Given the description of an element on the screen output the (x, y) to click on. 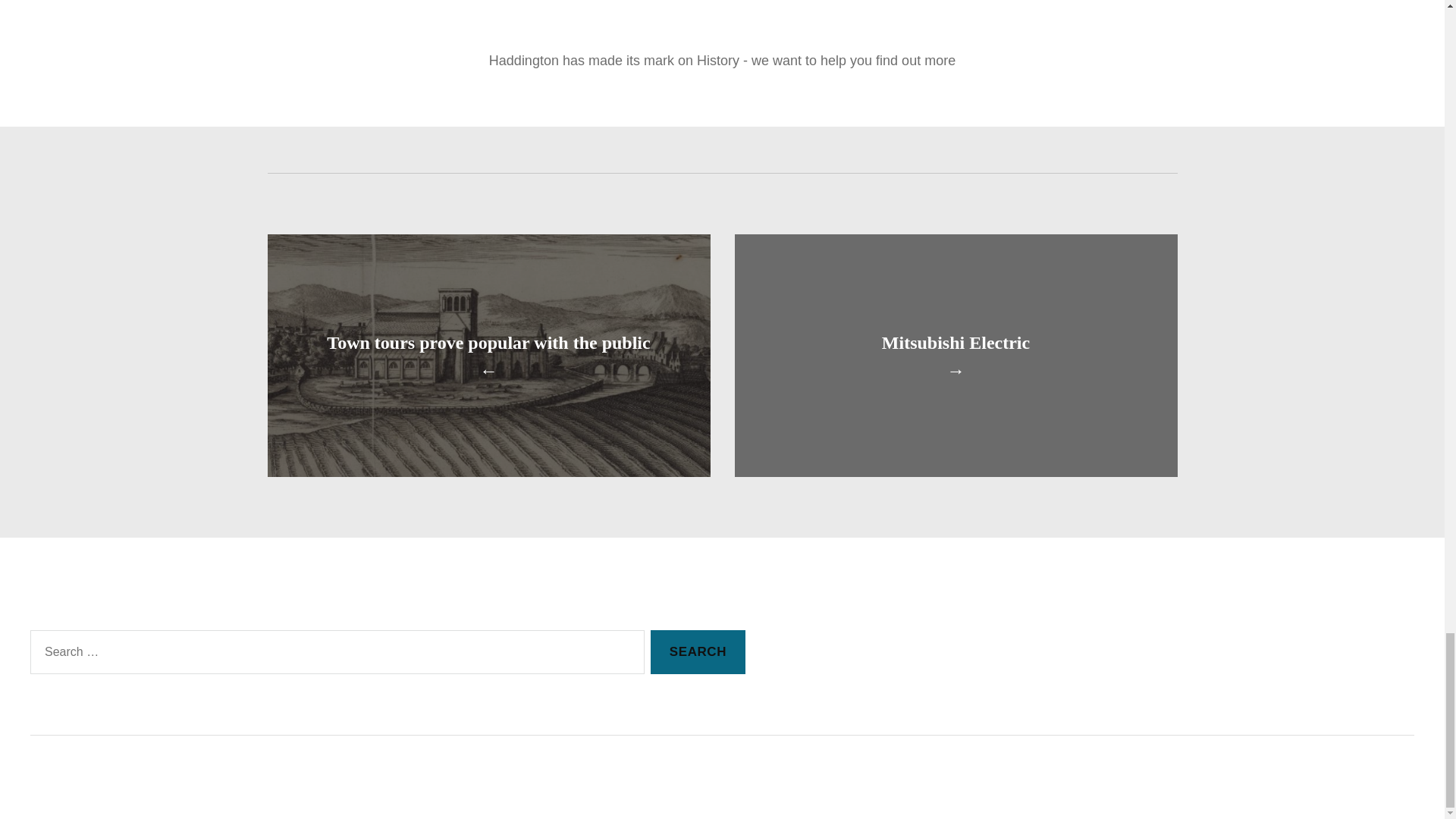
Search (697, 651)
Search (697, 651)
